Given the description of an element on the screen output the (x, y) to click on. 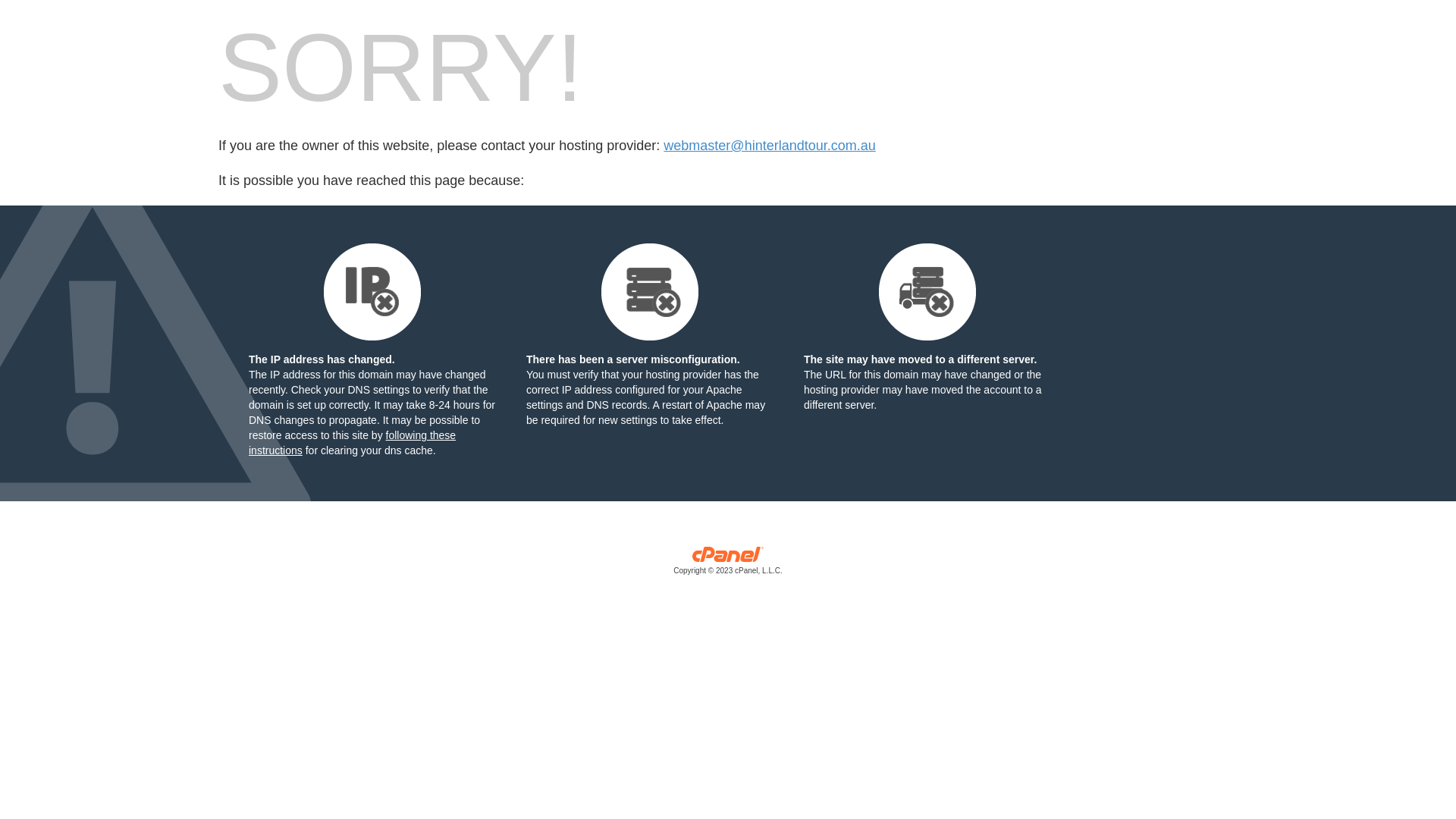
webmaster@hinterlandtour.com.au Element type: text (769, 145)
following these instructions Element type: text (351, 442)
